Given the description of an element on the screen output the (x, y) to click on. 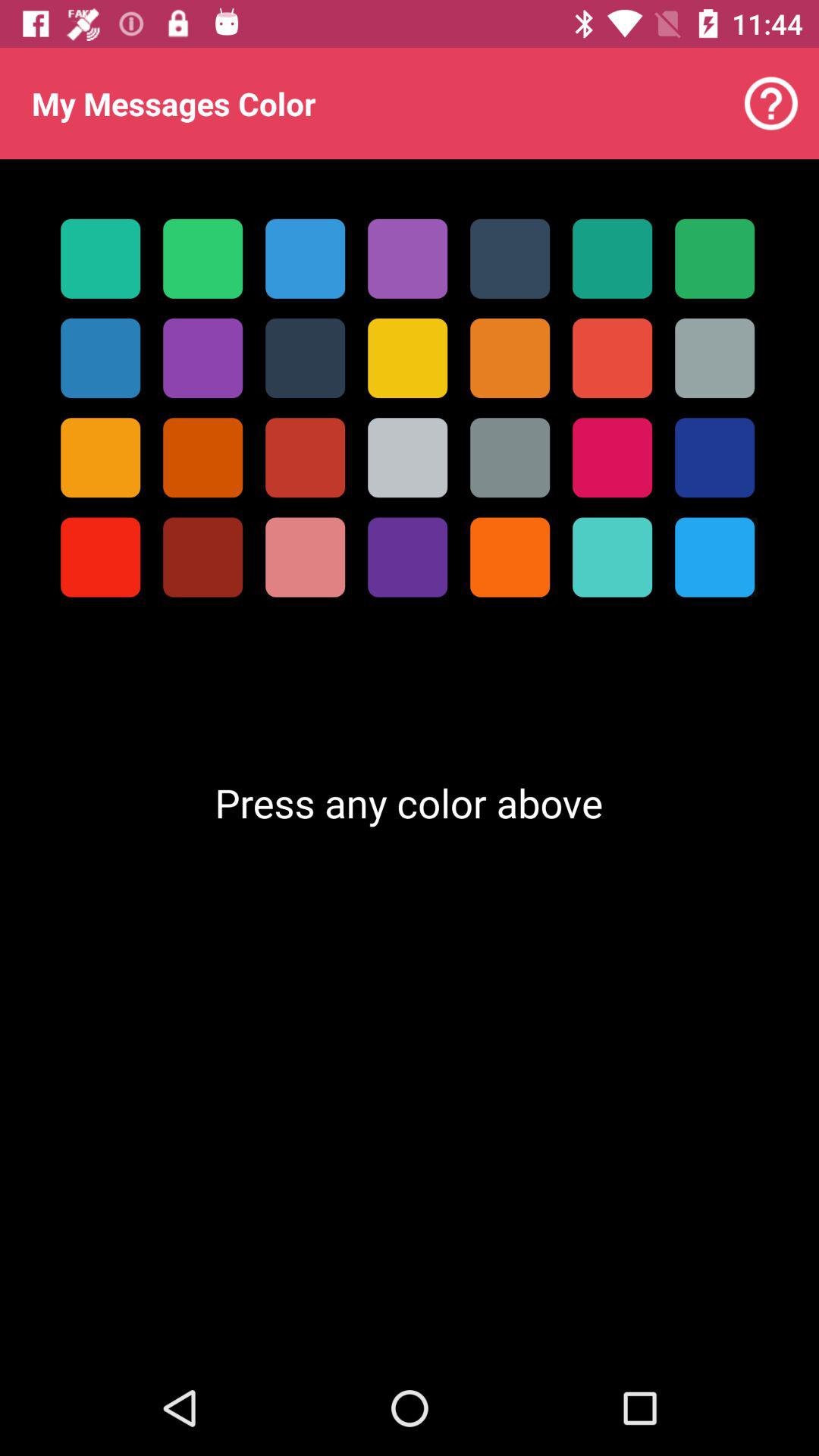
open the app to the right of my messages color (771, 103)
